Given the description of an element on the screen output the (x, y) to click on. 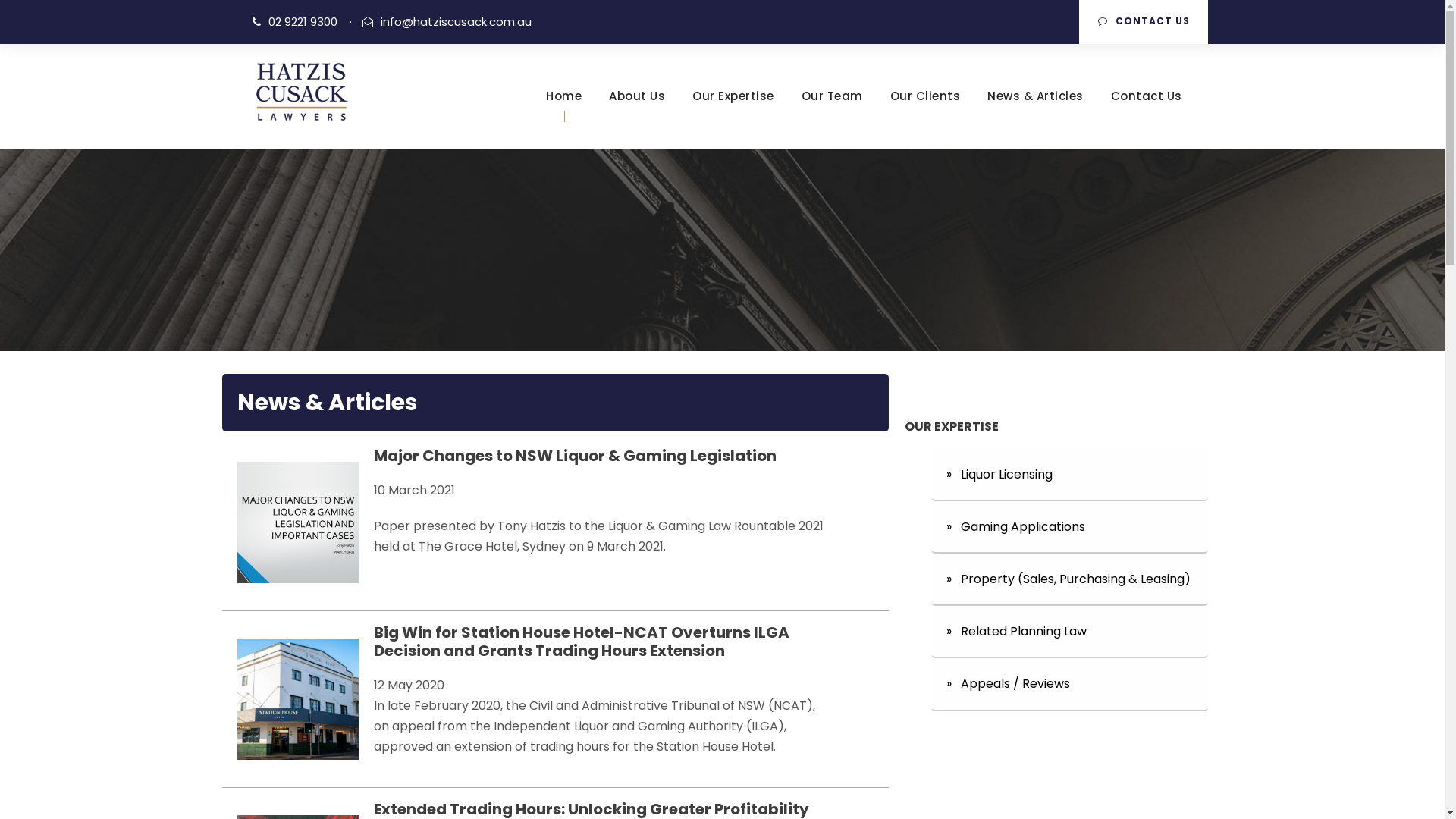
Major Changes to NSW Liquor & Gaming Legislation Element type: text (574, 454)
Our Expertise Element type: text (733, 117)
logo Element type: hover (300, 92)
Our Clients Element type: text (925, 117)
News & Articles Element type: text (1035, 117)
Our Team Element type: text (831, 117)
Contact Us Element type: text (1145, 117)
Home Element type: text (563, 117)
info@hatziscusack.com.au Element type: text (455, 21)
About Us Element type: text (636, 117)
02 9221 9300 Element type: text (302, 21)
Major Changes to NSW Liquor & Gaming Legislation Element type: hover (296, 521)
CONTACT US Element type: text (1142, 21)
